Given the description of an element on the screen output the (x, y) to click on. 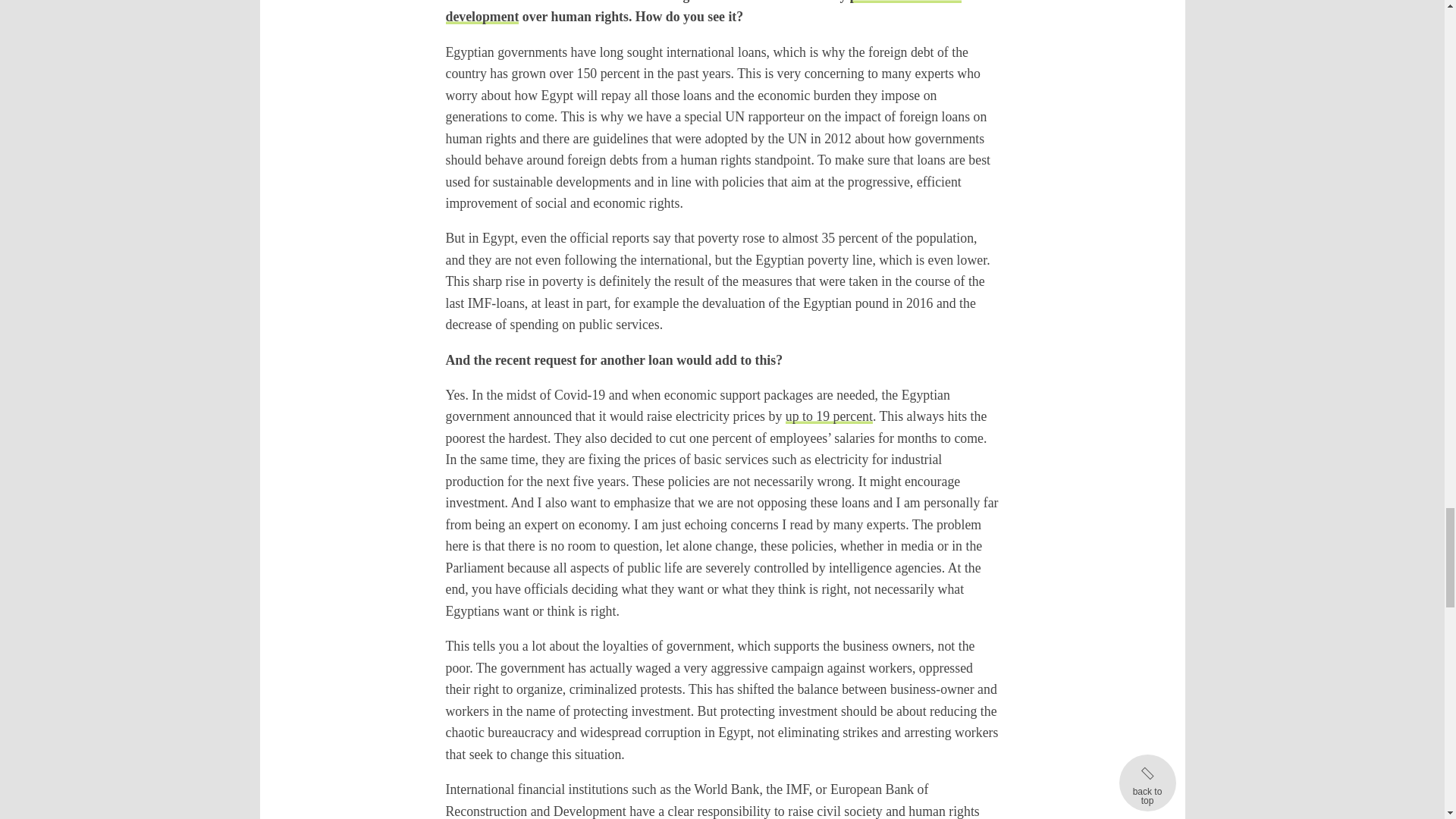
up to 19 percent (829, 416)
